Given the description of an element on the screen output the (x, y) to click on. 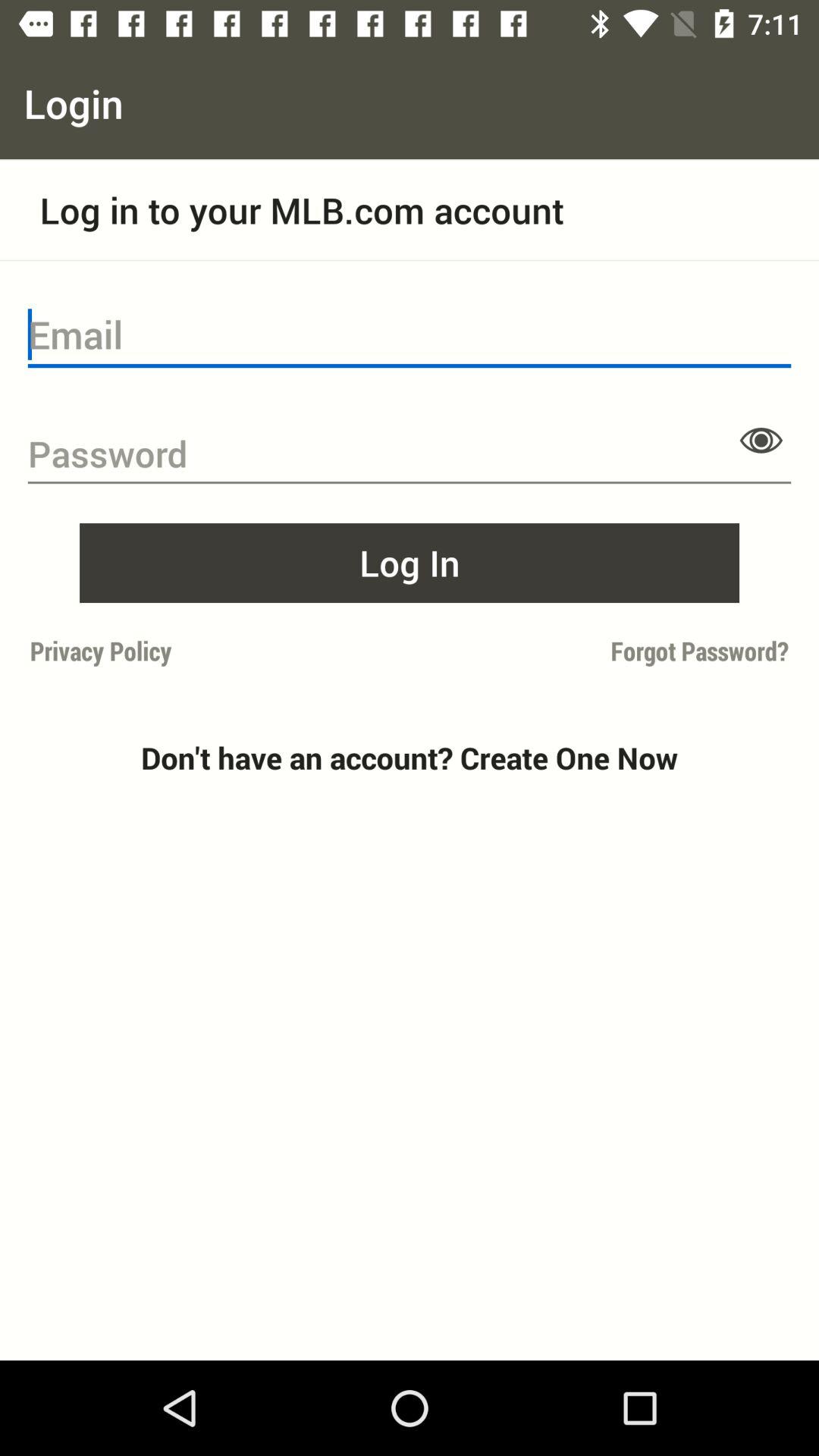
view password (761, 440)
